Given the description of an element on the screen output the (x, y) to click on. 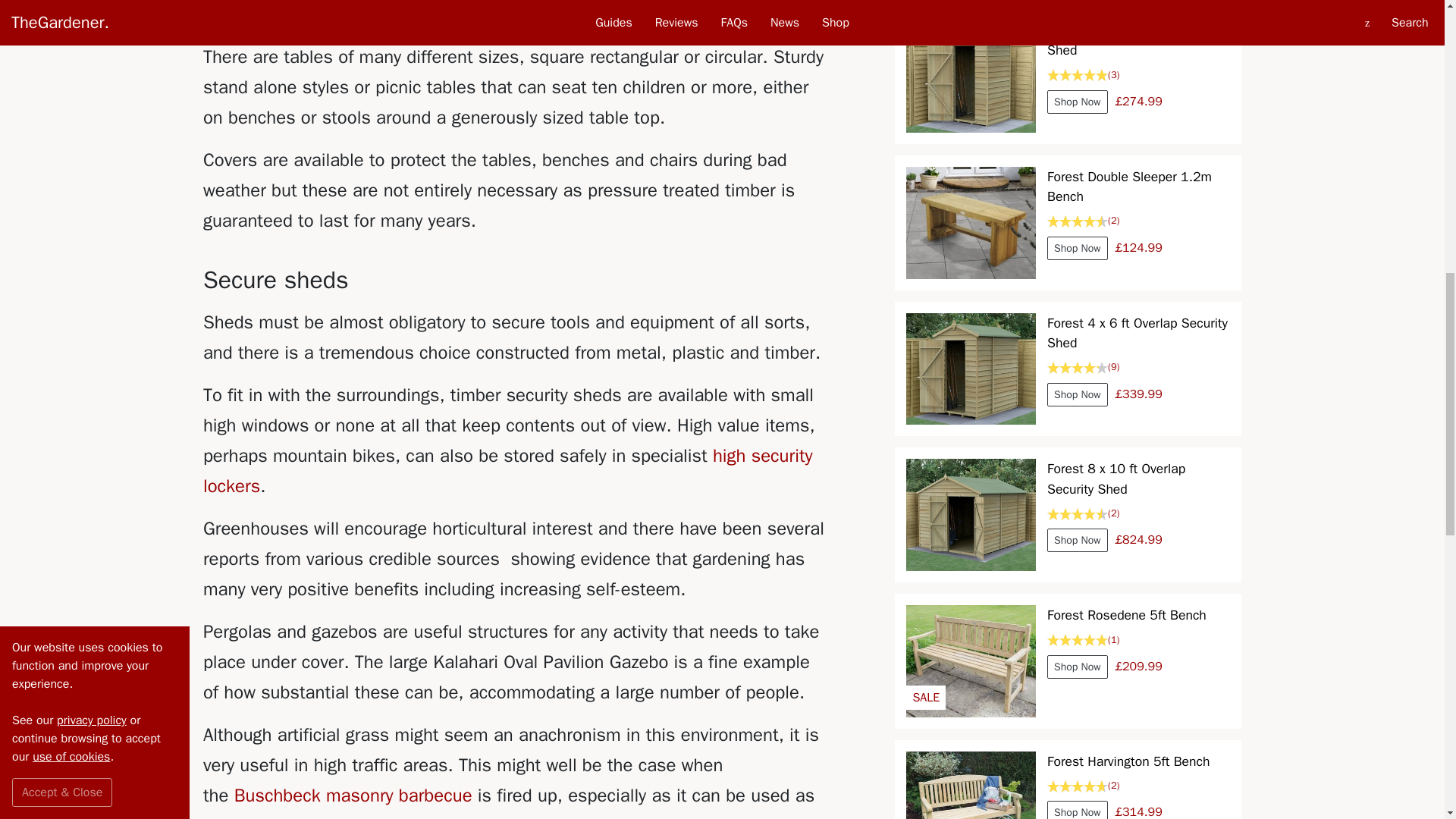
Based on 9 reviews (1138, 367)
Forest 8 x 10 ft Overlap Security Shed (970, 514)
Forest Double Sleeper 1.2m Bench (970, 223)
Based on 2 reviews (1138, 513)
Forest Rosedene 5ft Bench (970, 660)
Based on 3 reviews (1138, 74)
Buschbeck masonry barbecue (352, 794)
Based on 1 reviews (1126, 640)
Based on 2 reviews (1138, 220)
Forest 4 x 3 ft Overlap Security Shed  (970, 76)
